Given the description of an element on the screen output the (x, y) to click on. 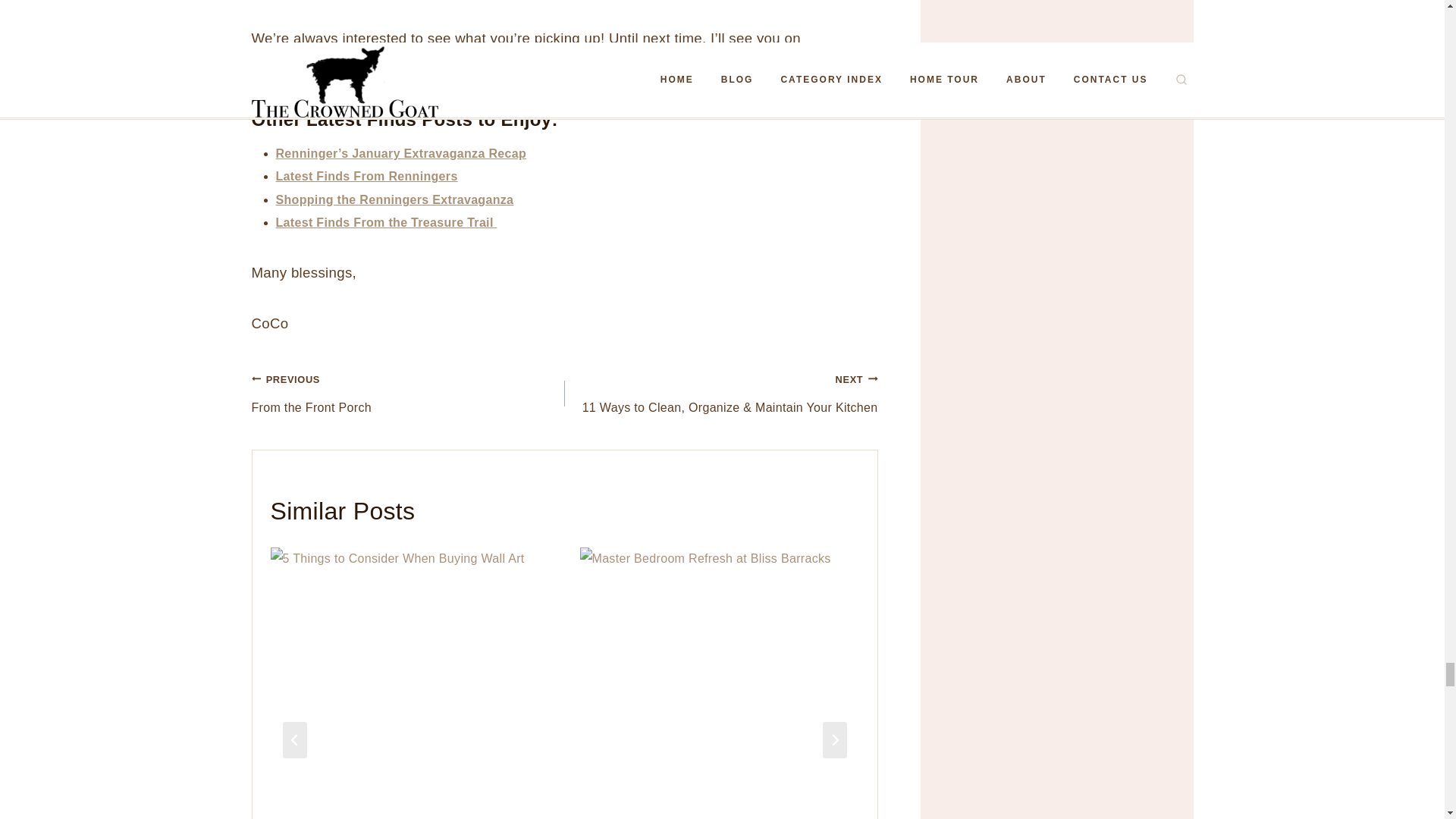
Shopping the Renningers Extravaganza (394, 199)
Instagram, (288, 65)
Pinterest (407, 392)
Facebook (461, 65)
Latest Finds From the Treasure Trail  (363, 65)
Latest Finds From Renningers (386, 222)
